Given the description of an element on the screen output the (x, y) to click on. 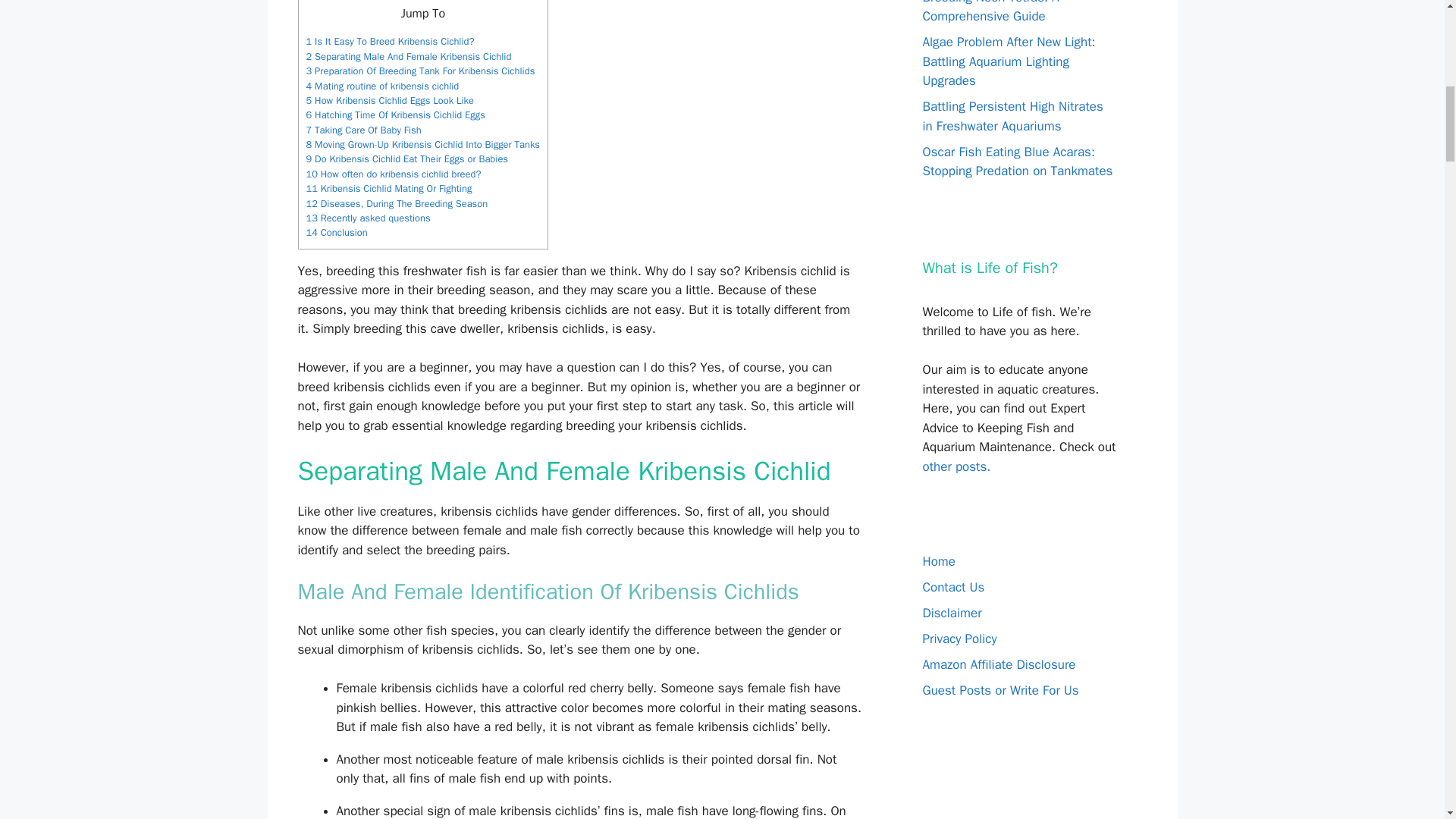
1 Is It Easy To Breed Kribensis Cichlid? (389, 41)
14 Conclusion (336, 232)
3 Preparation Of Breeding Tank For Kribensis Cichlids (420, 70)
9 Do Kribensis Cichlid Eat Their Eggs or Babies  (408, 159)
11 Kribensis Cichlid Mating Or Fighting (388, 188)
5 How Kribensis Cichlid Eggs Look Like (389, 101)
6 Hatching Time Of Kribensis Cichlid Eggs (394, 114)
7 Taking Care Of Baby Fish  (365, 130)
Scroll back to top (1406, 720)
4 Mating routine of kribensis cichlid  (384, 86)
